Given the description of an element on the screen output the (x, y) to click on. 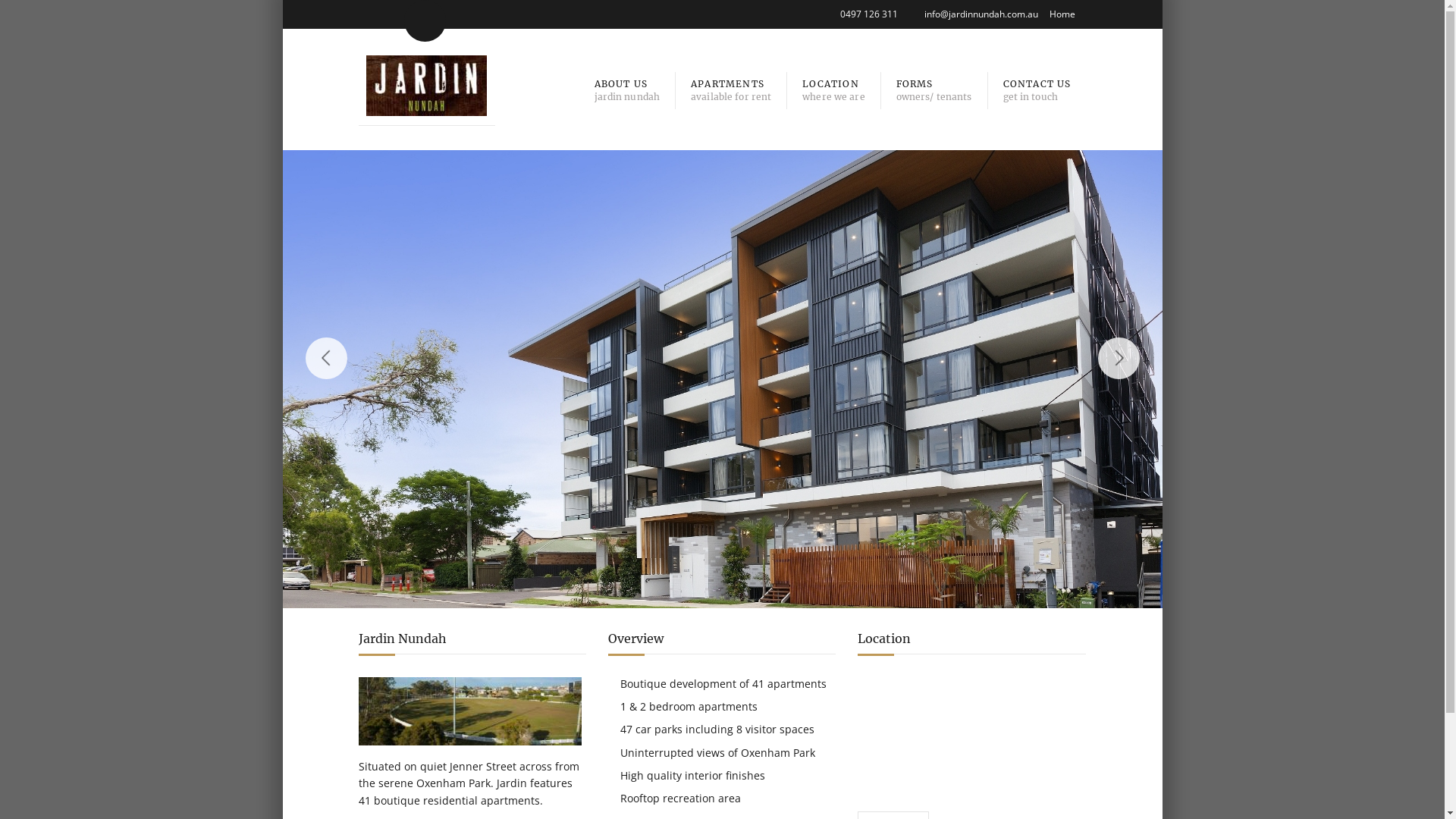
Home Element type: text (1062, 13)
info@jardinnundah.com.au Element type: text (980, 13)
CONTACT US
get in touch Element type: text (1036, 87)
LOCATION
where we are Element type: text (833, 87)
FORMS
owners/ tenants Element type: text (934, 87)
APARTMENTS
available for rent Element type: text (731, 87)
ABOUT US
jardin nundah Element type: text (627, 87)
